Given the description of an element on the screen output the (x, y) to click on. 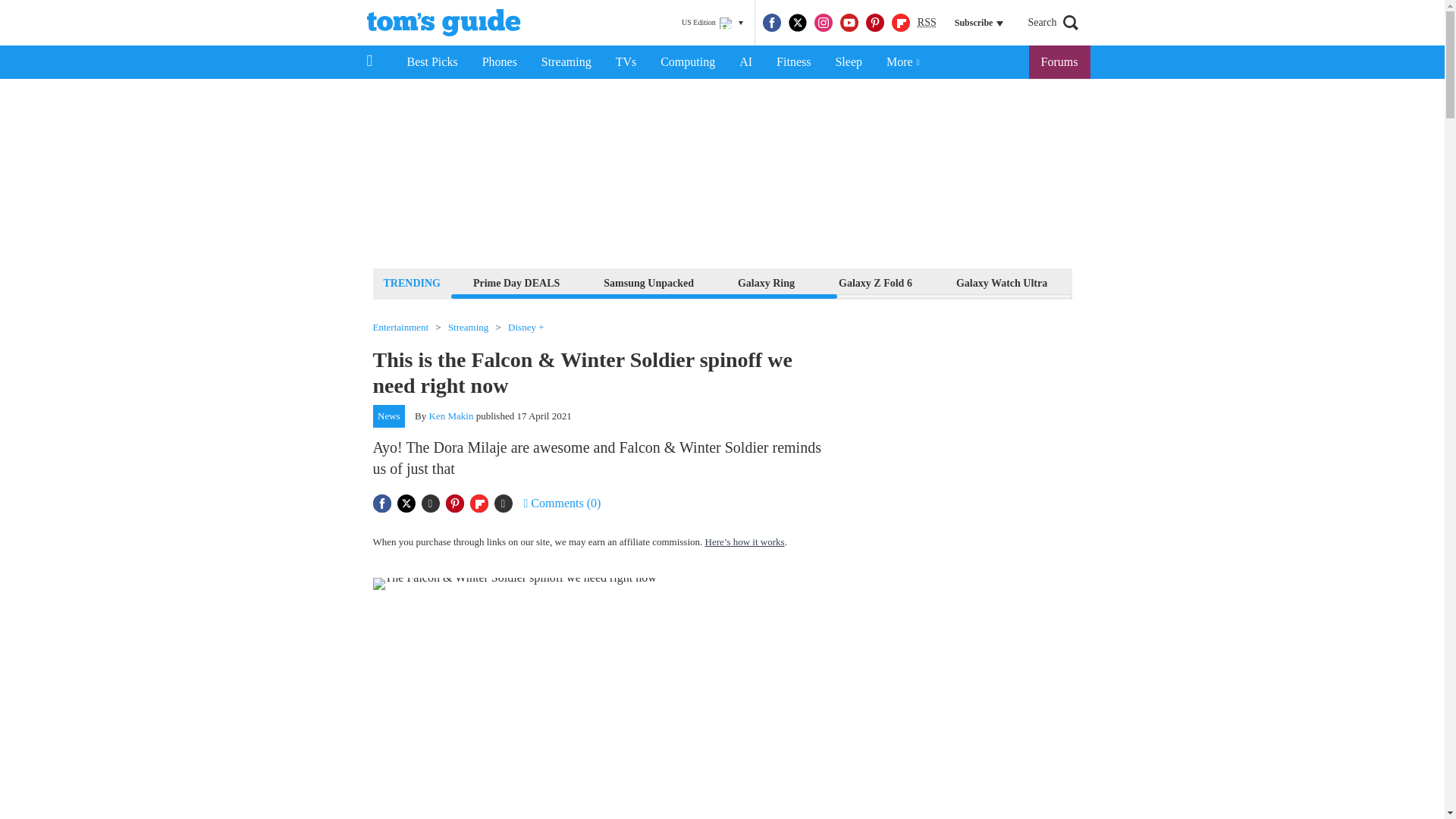
Fitness (793, 61)
AI (745, 61)
Phones (499, 61)
RSS (926, 22)
Computing (686, 61)
US Edition (712, 22)
Best Picks (431, 61)
TVs (626, 61)
Sleep (848, 61)
Really Simple Syndication (926, 21)
Streaming (566, 61)
